Given the description of an element on the screen output the (x, y) to click on. 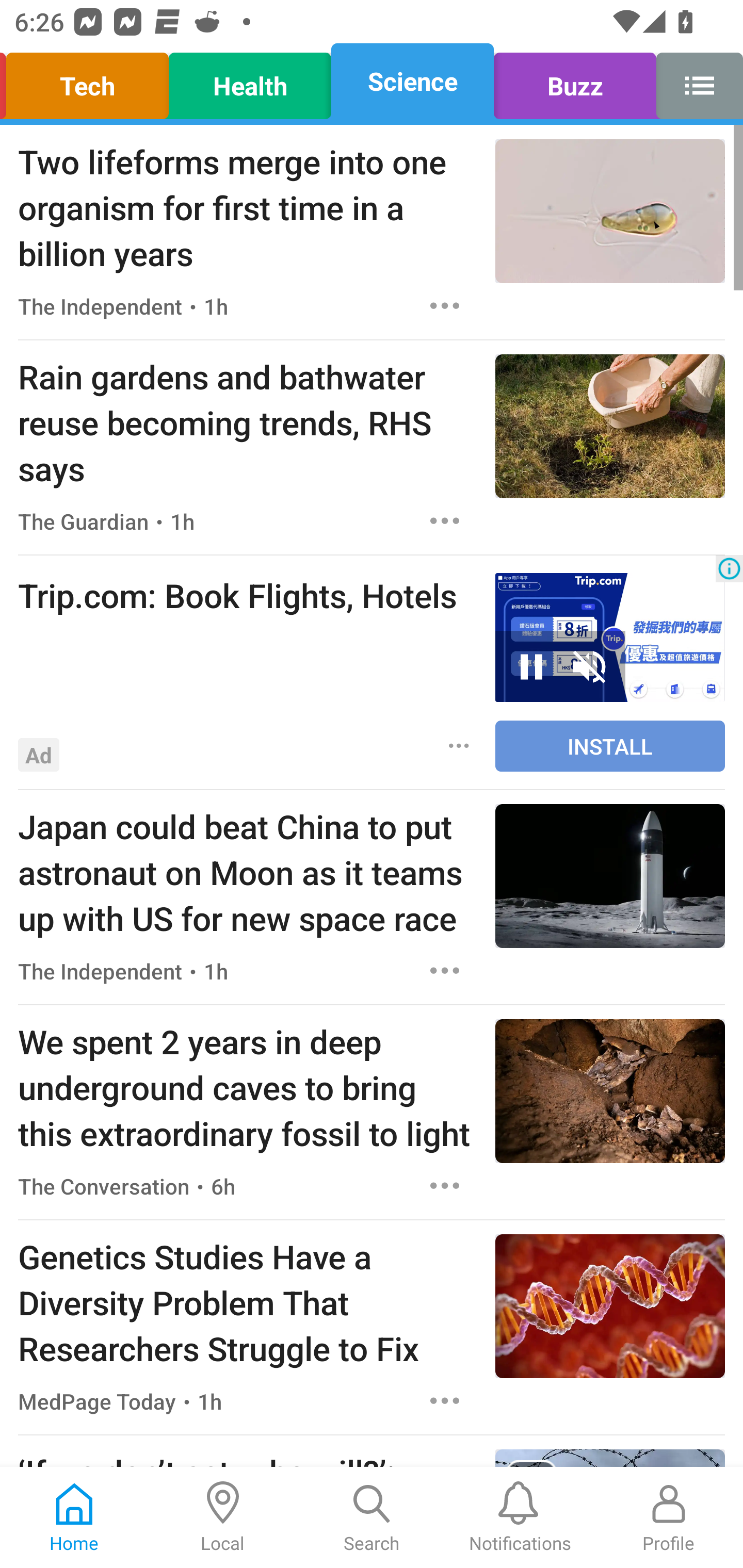
Tech (89, 81)
Health (249, 81)
Science (412, 81)
Buzz (574, 81)
 (694, 81)
Options (444, 305)
Options (444, 520)
Ad Choices Icon (729, 568)
Trip.com: Book Flights, Hotels (247, 594)
INSTALL (610, 746)
Options (459, 745)
Options (444, 970)
Options (444, 1185)
Options (444, 1400)
Local (222, 1517)
Search (371, 1517)
Notifications (519, 1517)
Profile (668, 1517)
